Given the description of an element on the screen output the (x, y) to click on. 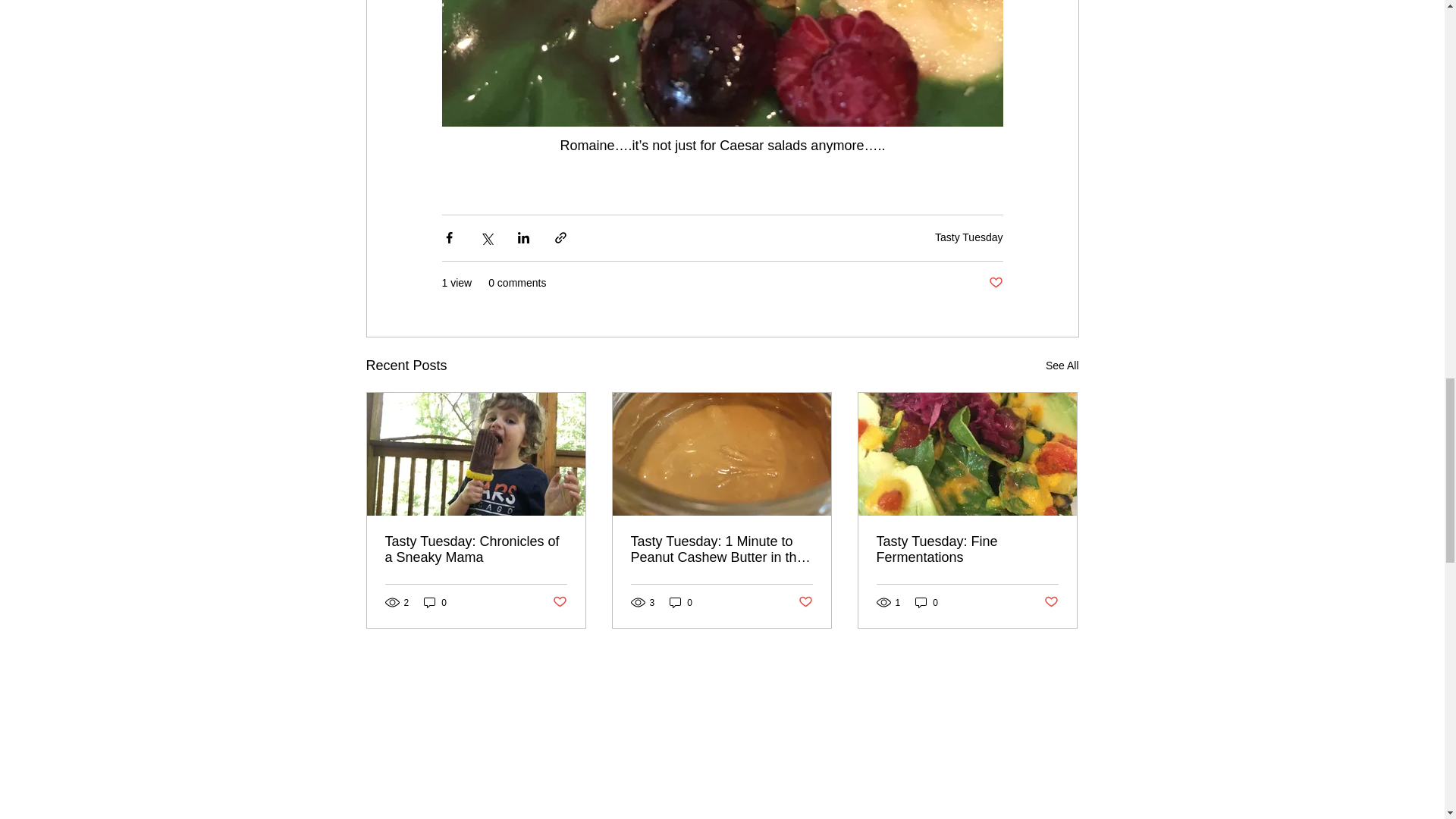
Post not marked as liked (1050, 602)
Tasty Tuesday: Chronicles of a Sneaky Mama (476, 549)
Tasty Tuesday (968, 236)
0 (435, 602)
Post not marked as liked (558, 602)
0 (926, 602)
Post not marked as liked (804, 602)
Post not marked as liked (995, 283)
Tasty Tuesday: Fine Fermentations (967, 549)
0 (681, 602)
See All (1061, 365)
